Given the description of an element on the screen output the (x, y) to click on. 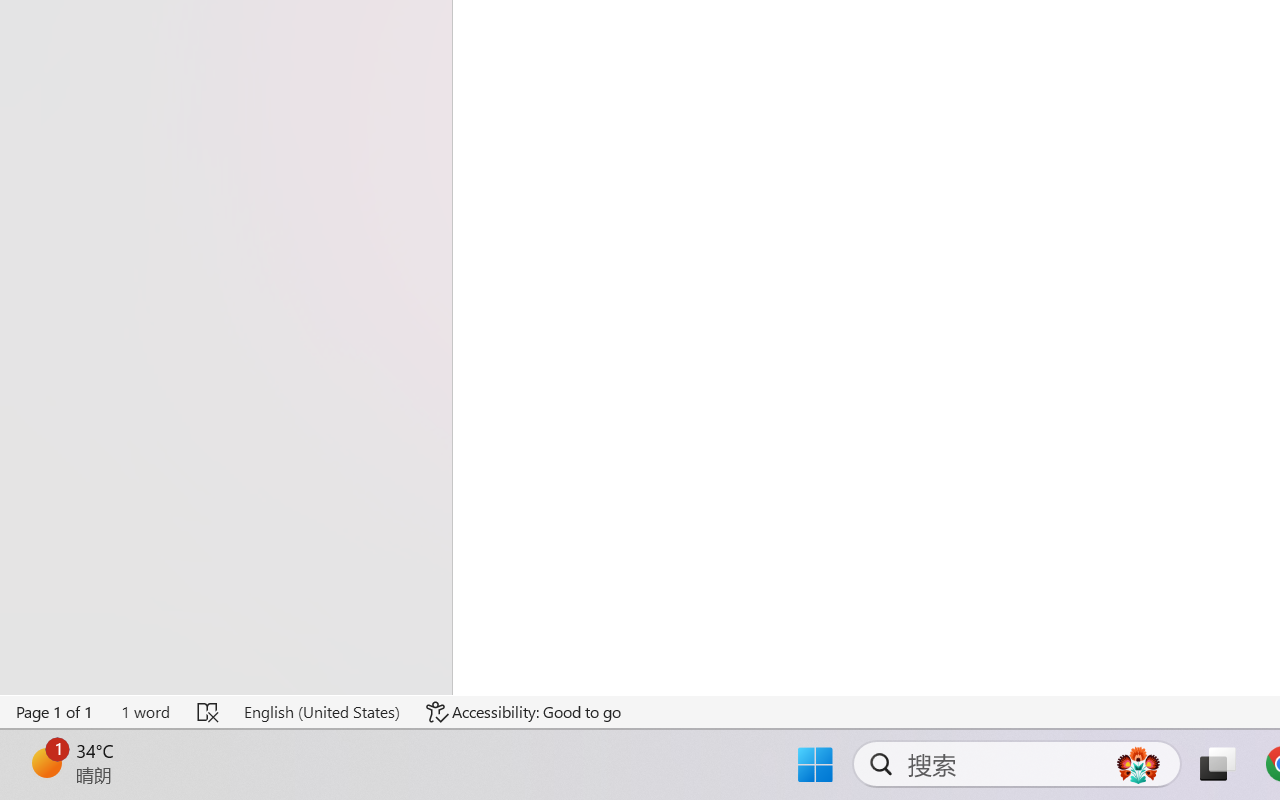
Spelling and Grammar Check Errors (208, 712)
